Given the description of an element on the screen output the (x, y) to click on. 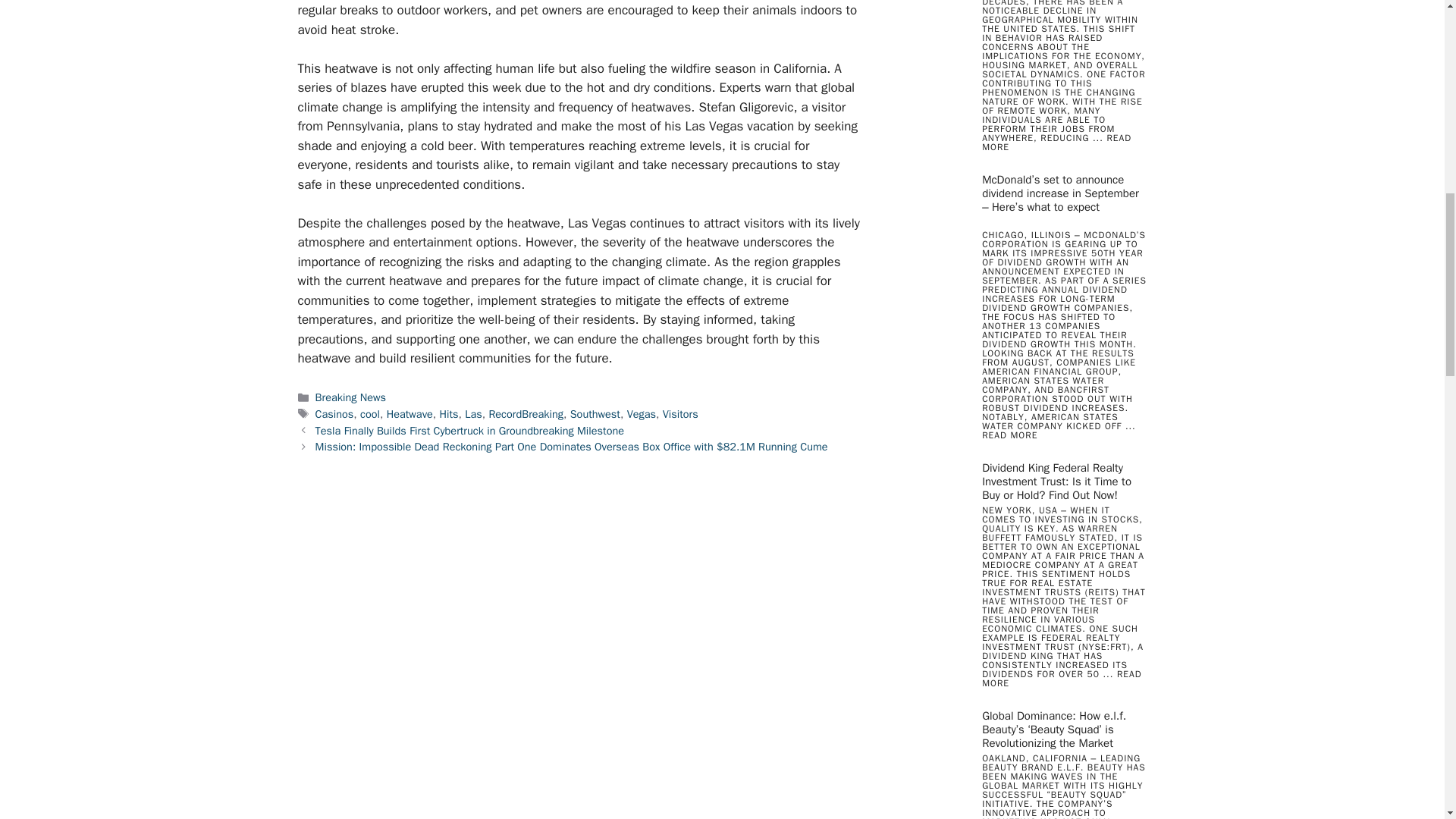
Breaking News (350, 397)
Casinos (334, 413)
Las (472, 413)
Southwest (595, 413)
READ MORE (1056, 142)
Heatwave (409, 413)
READ MORE (1061, 678)
RecordBreaking (525, 413)
